Given the description of an element on the screen output the (x, y) to click on. 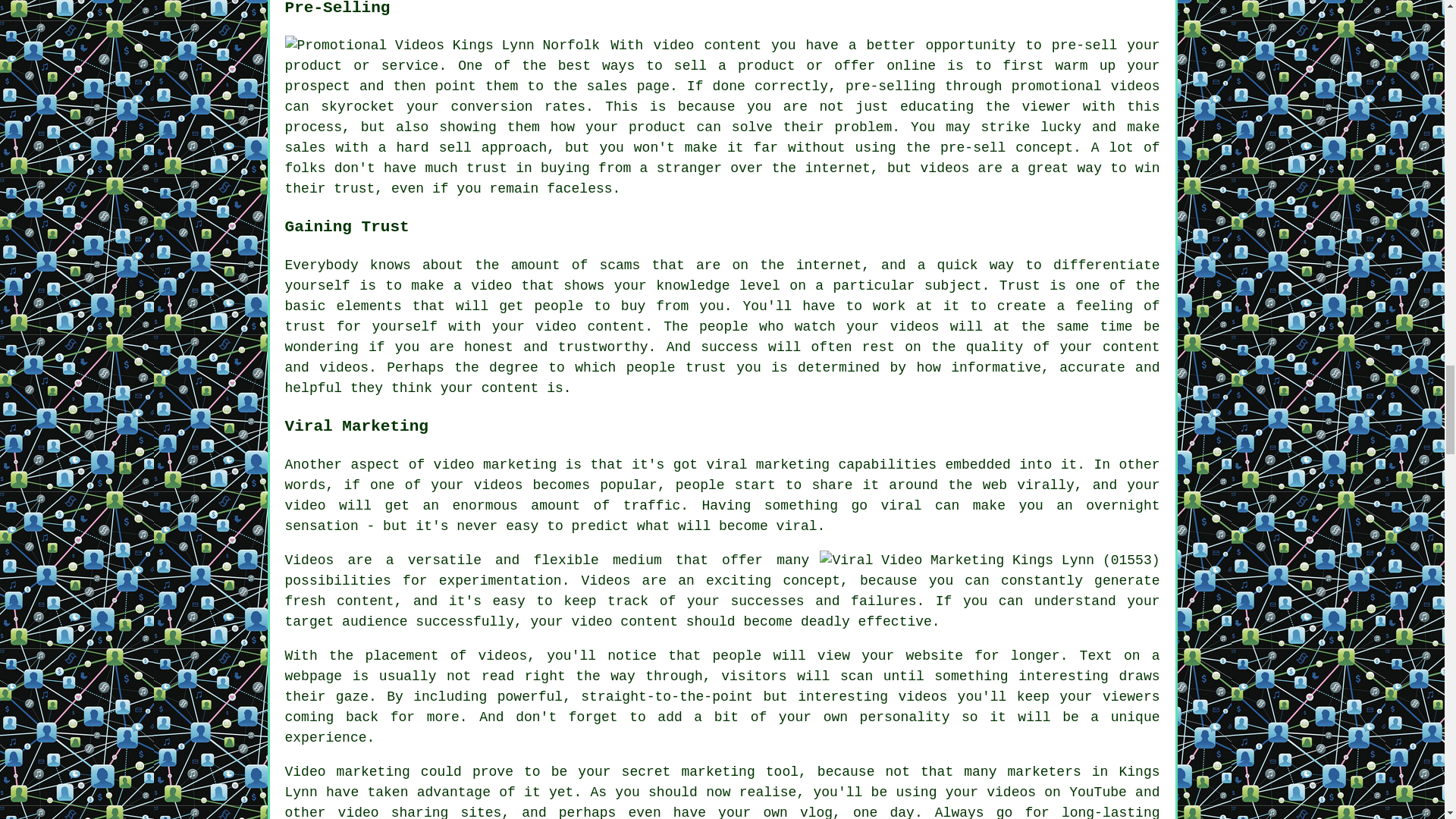
Promotional Videos Kings Lynn Norfolk (442, 46)
